Given the description of an element on the screen output the (x, y) to click on. 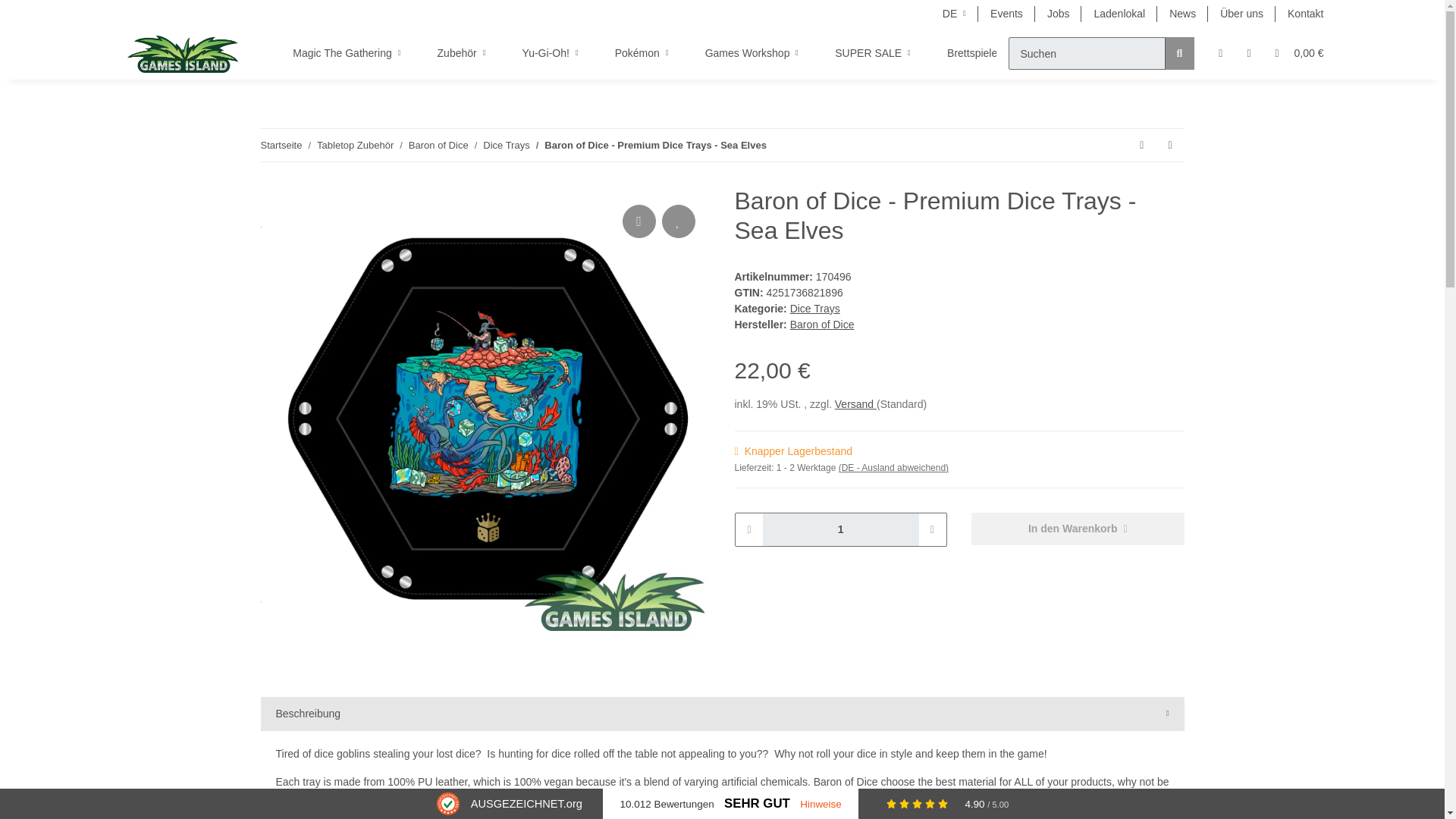
Kontaktformular (1305, 13)
Games Workshop (751, 53)
Events (1006, 13)
News (1182, 13)
Kontakt (1305, 13)
Kartenspiele (1077, 53)
Magic The Gathering (347, 53)
Games Workshop (751, 53)
Games Island (183, 53)
Ladenlokal (1119, 13)
Jobs (1058, 13)
DE (954, 13)
Neuigkeiten (1182, 13)
Magic The Gathering (347, 53)
SUPER SALE (872, 53)
